Given the description of an element on the screen output the (x, y) to click on. 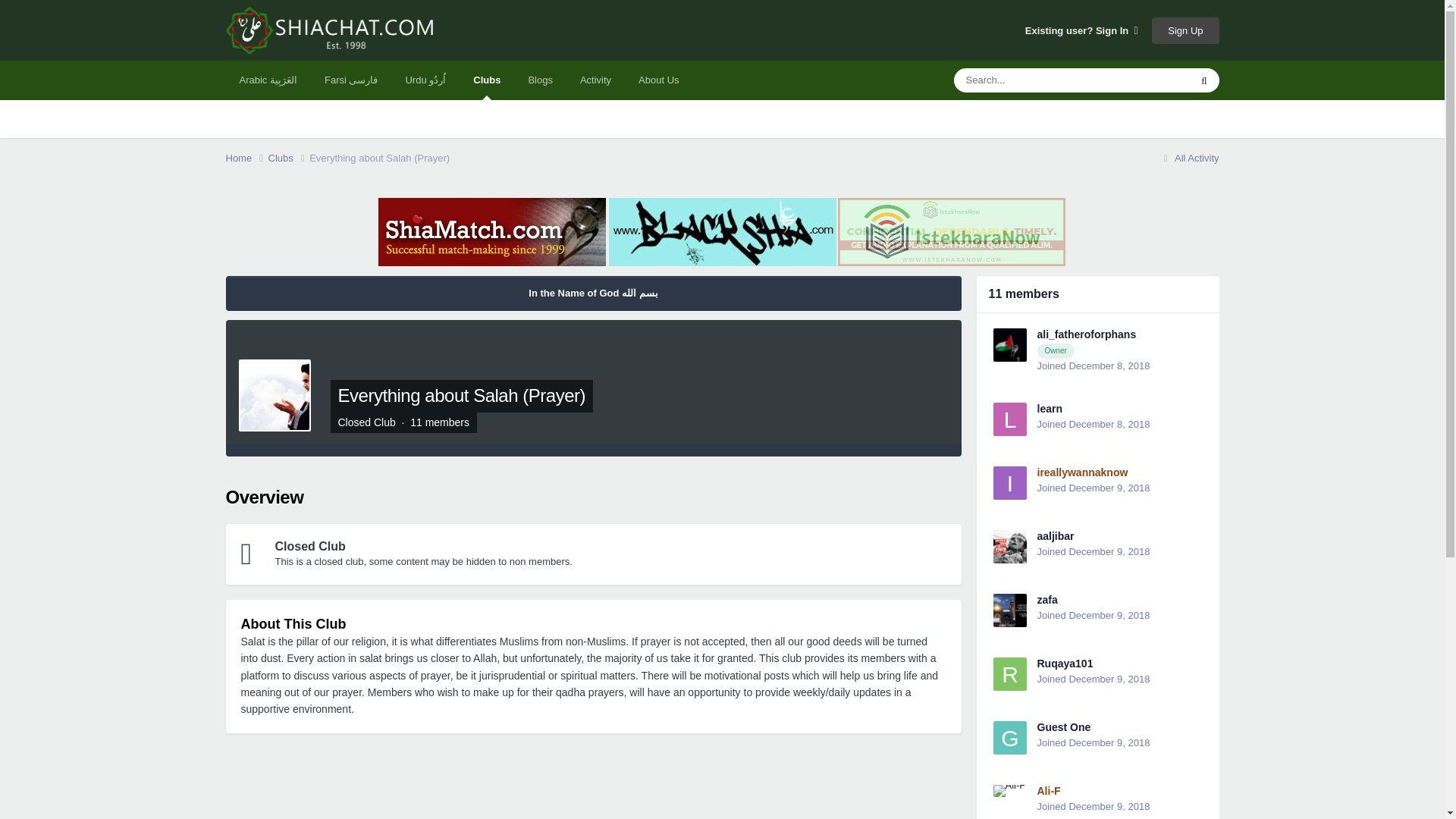
Go to zafa's profile (1047, 599)
Go to aaljibar's profile (1055, 535)
Go to Ruqaya101's profile (1064, 663)
Blogs (539, 79)
About Us (658, 79)
Activity (595, 79)
Go to Ali-F's profile (1048, 790)
Clubs (486, 79)
Go to ireallywannaknow's profile (1009, 482)
Go to Guest One's profile (1063, 727)
